Given the description of an element on the screen output the (x, y) to click on. 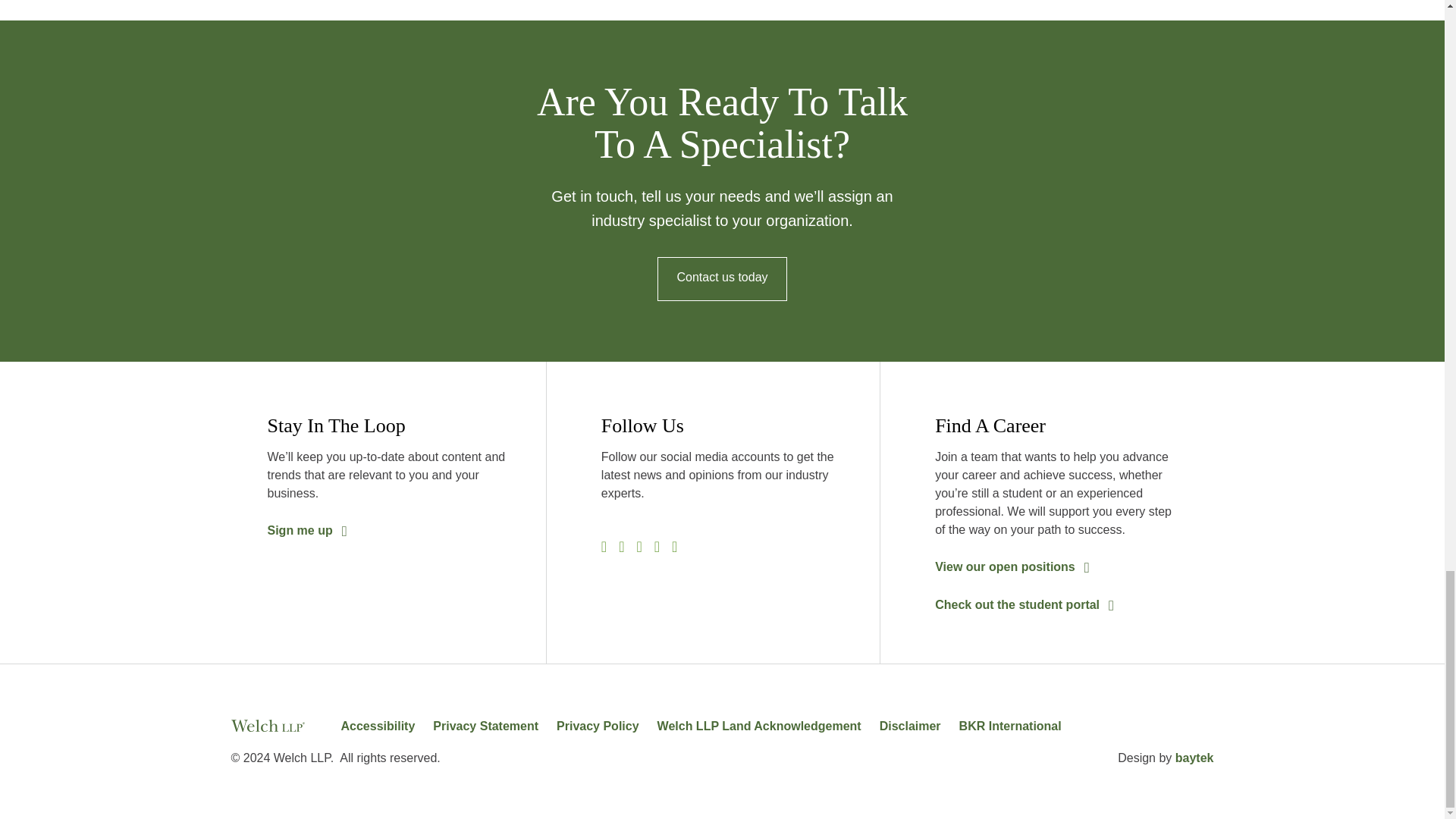
Ottawa Web Design and Branding (1194, 757)
